Given the description of an element on the screen output the (x, y) to click on. 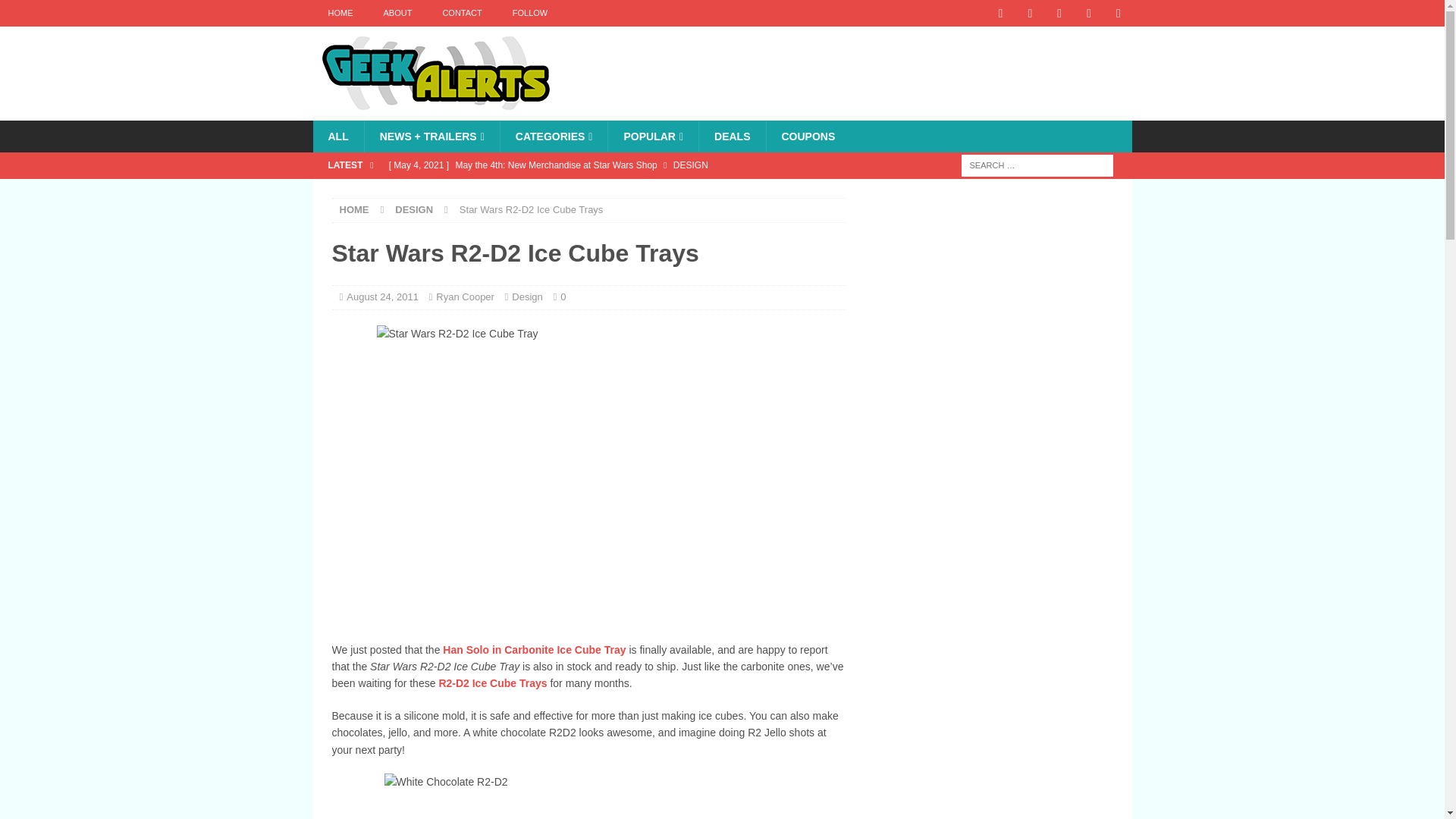
FOLLOW (529, 13)
CATEGORIES (553, 136)
HOME (354, 209)
White Chocolate R2-D2 (588, 796)
Search (56, 11)
Rick and Morty Get Shwifty Bluetooth Speaker (612, 190)
POPULAR (652, 136)
ABOUT (398, 13)
DEALS (731, 136)
Star Wars R2-D2 Ice Cube Tray (589, 475)
ALL (337, 136)
COUPONS (807, 136)
May the 4th: New Merchandise at Star Wars Shop (612, 165)
CONTACT (461, 13)
HOME (340, 13)
